Given the description of an element on the screen output the (x, y) to click on. 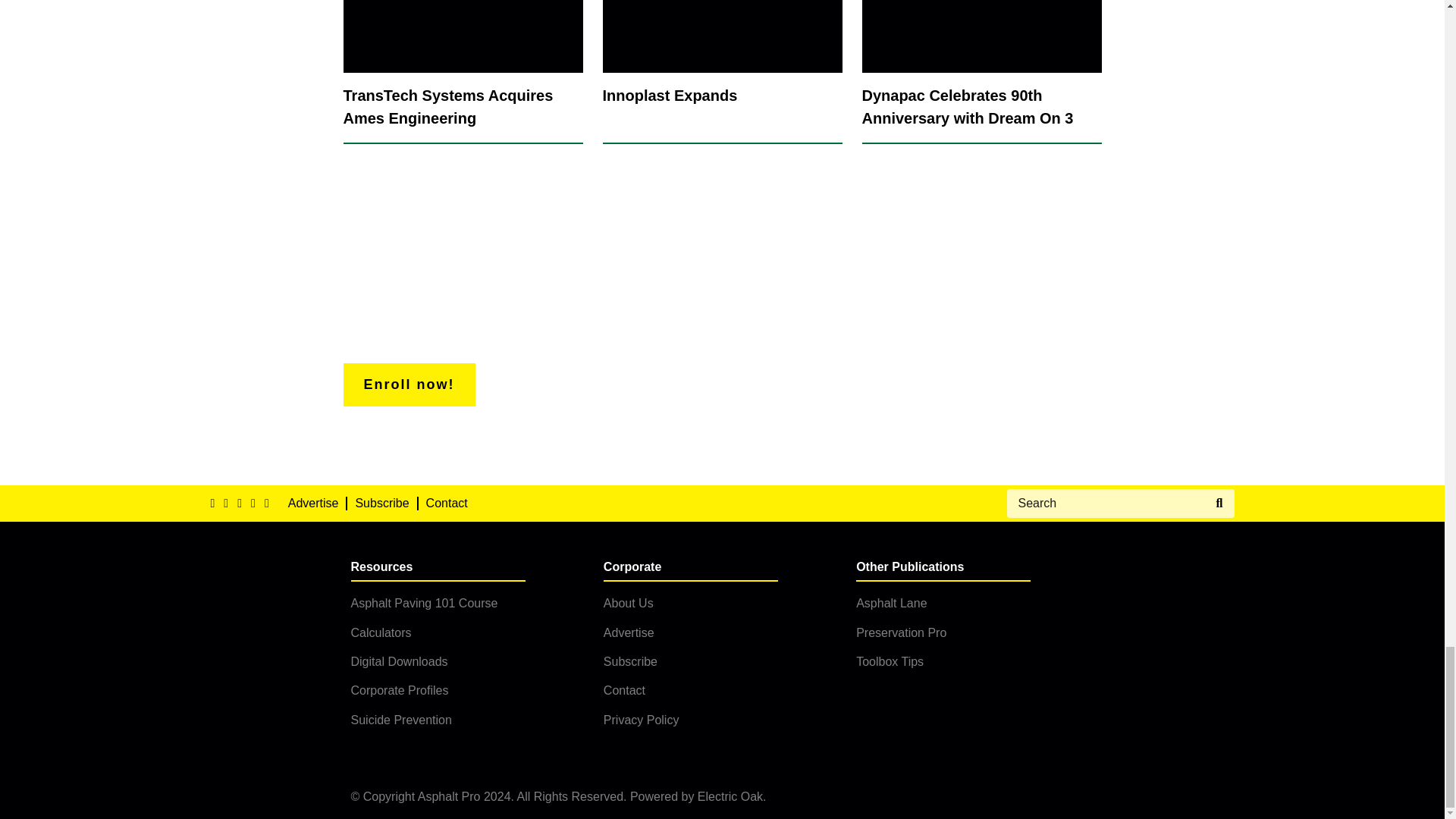
Dynapac Celebrates 90th Anniversary with Dream On 3 (980, 72)
Innoplast Expands (721, 72)
TransTech Systems Acquires Ames Engineering (462, 72)
Enroll now! (408, 384)
